Given the description of an element on the screen output the (x, y) to click on. 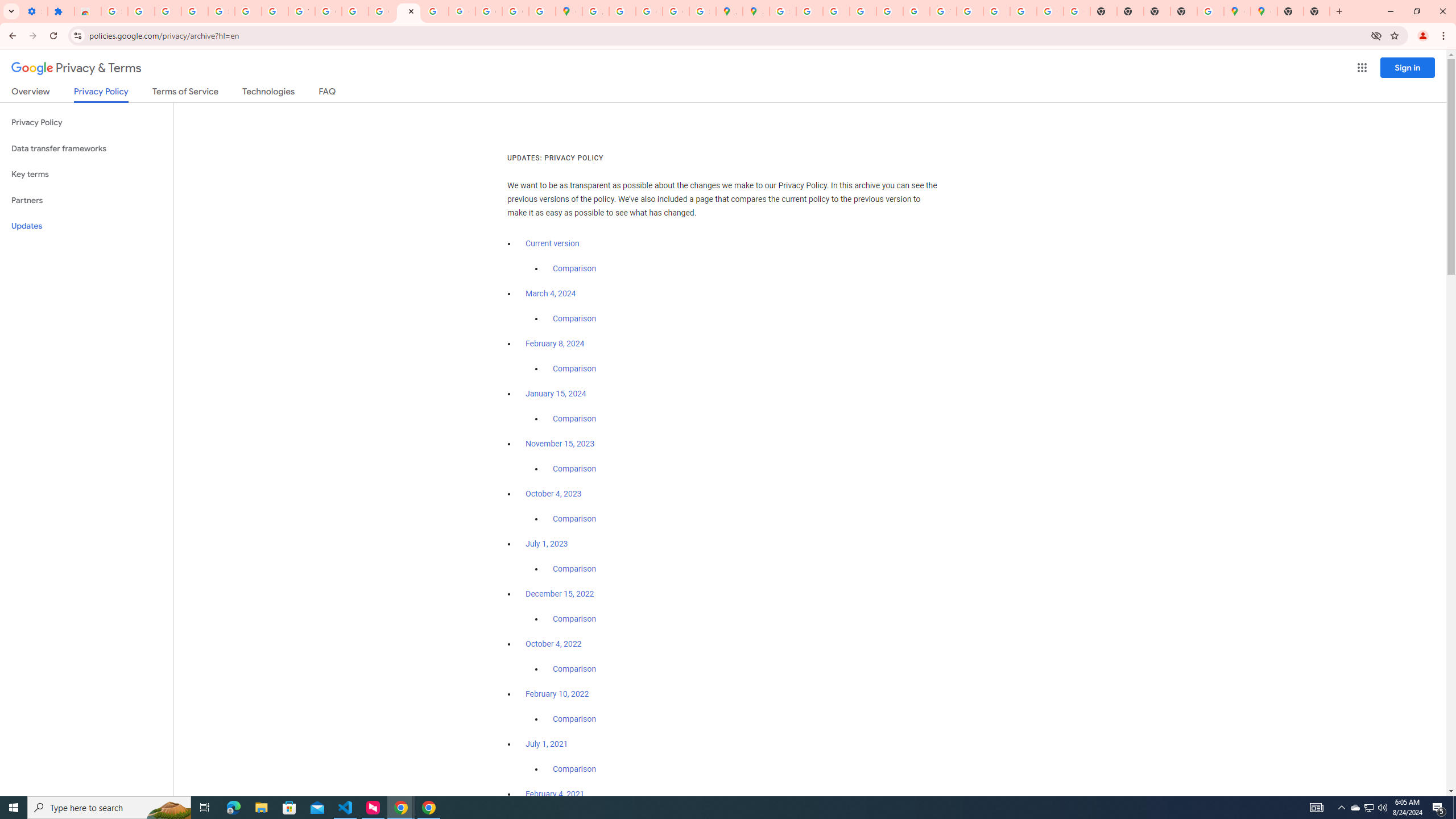
Create your Google Account (649, 11)
November 15, 2023 (560, 443)
Safety in Our Products - Google Safety Center (702, 11)
Current version (552, 243)
February 8, 2024 (555, 343)
October 4, 2022 (553, 643)
December 15, 2022 (559, 593)
Use Google Maps in Space - Google Maps Help (1210, 11)
YouTube (943, 11)
